Given the description of an element on the screen output the (x, y) to click on. 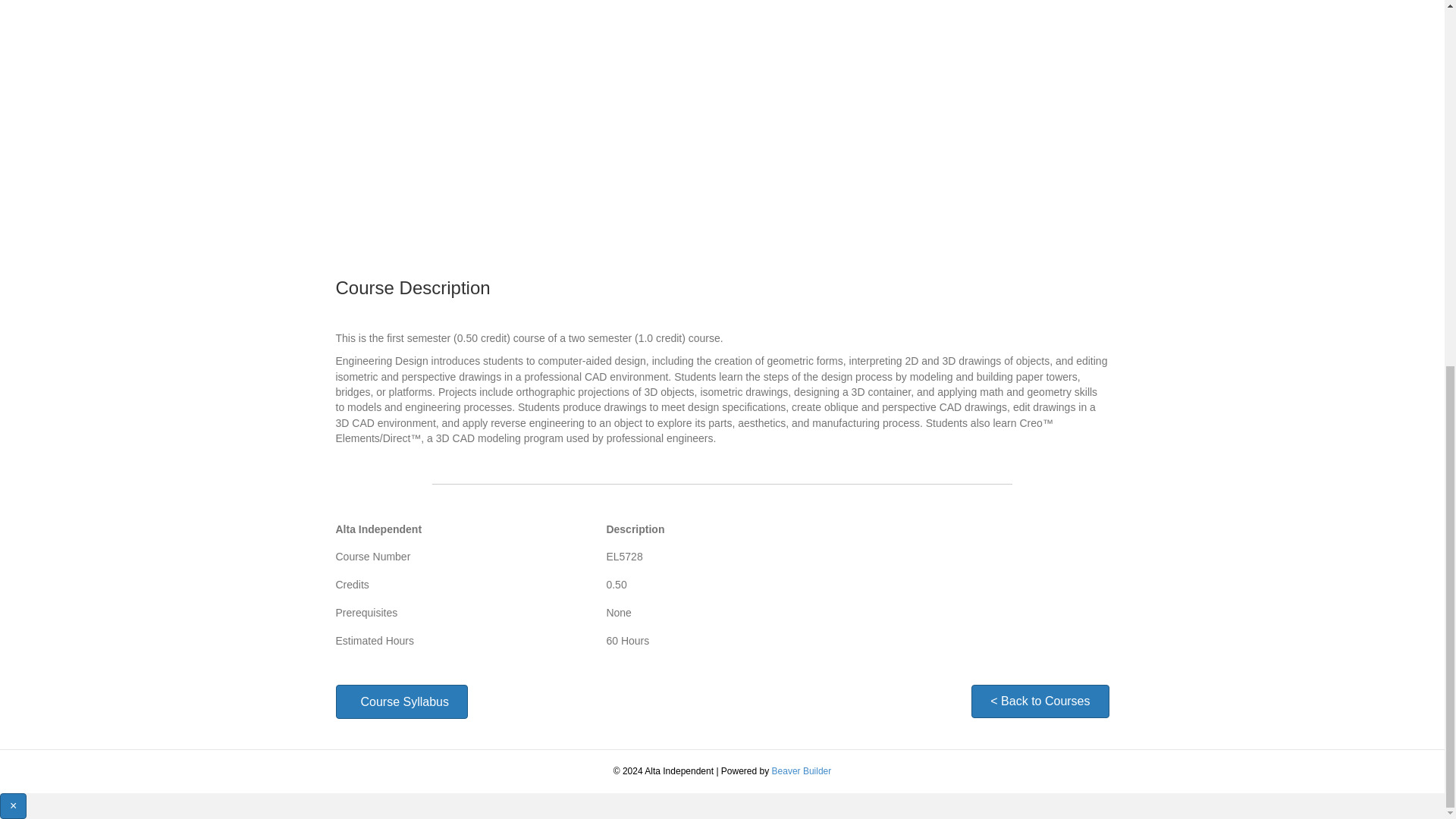
Course Syllabus (400, 701)
Beaver Builder (801, 770)
WordPress Page Builder Plugin (801, 770)
